Given the description of an element on the screen output the (x, y) to click on. 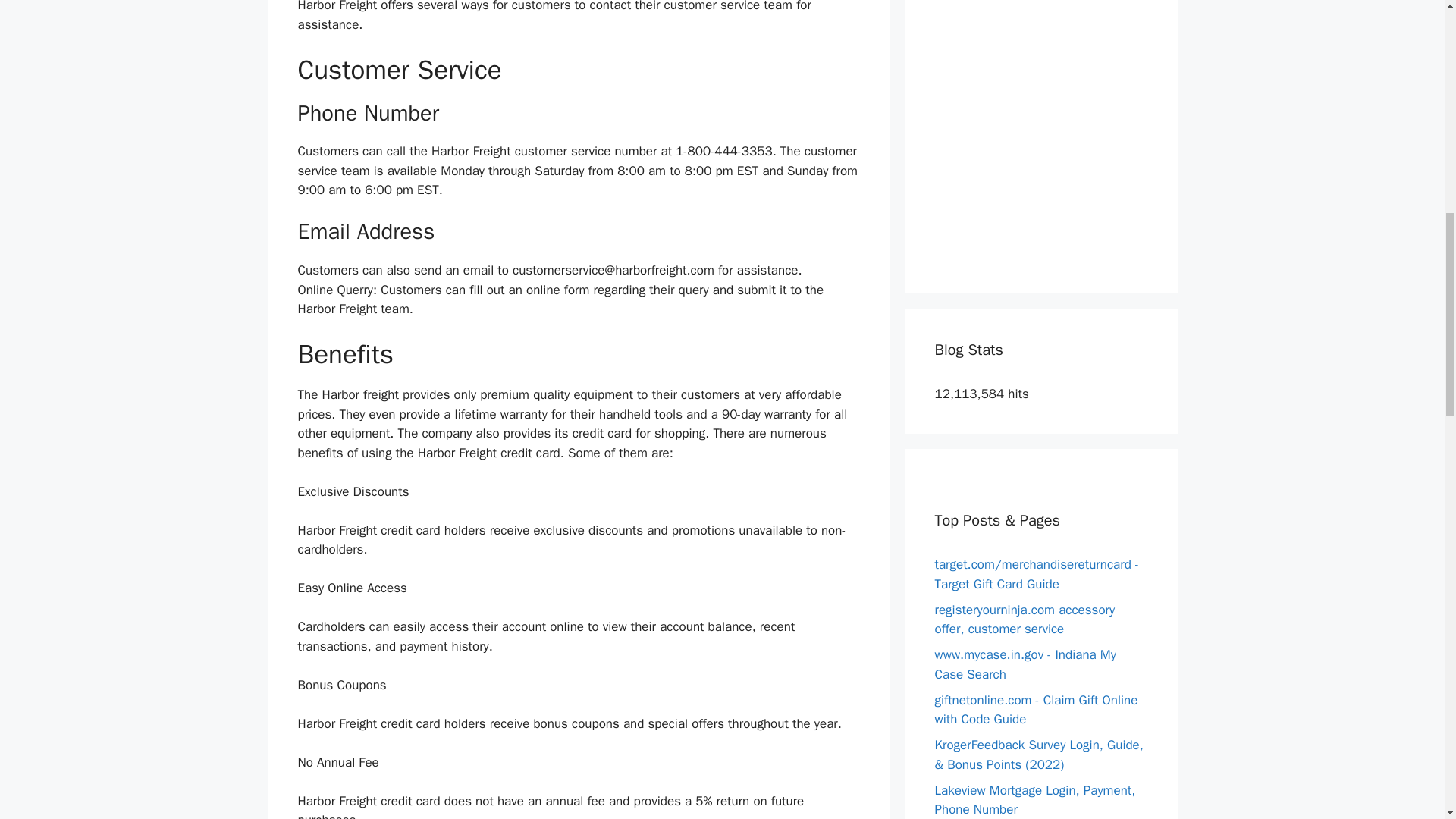
Lakeview Mortgage Login, Payment, Phone Number (1034, 800)
www.mycase.in.gov - Indiana My Case Search (1024, 664)
giftnetonline.com - Claim Gift Online with Code Guide (1035, 709)
registeryourninja.com accessory offer, customer service (1024, 619)
